Given the description of an element on the screen output the (x, y) to click on. 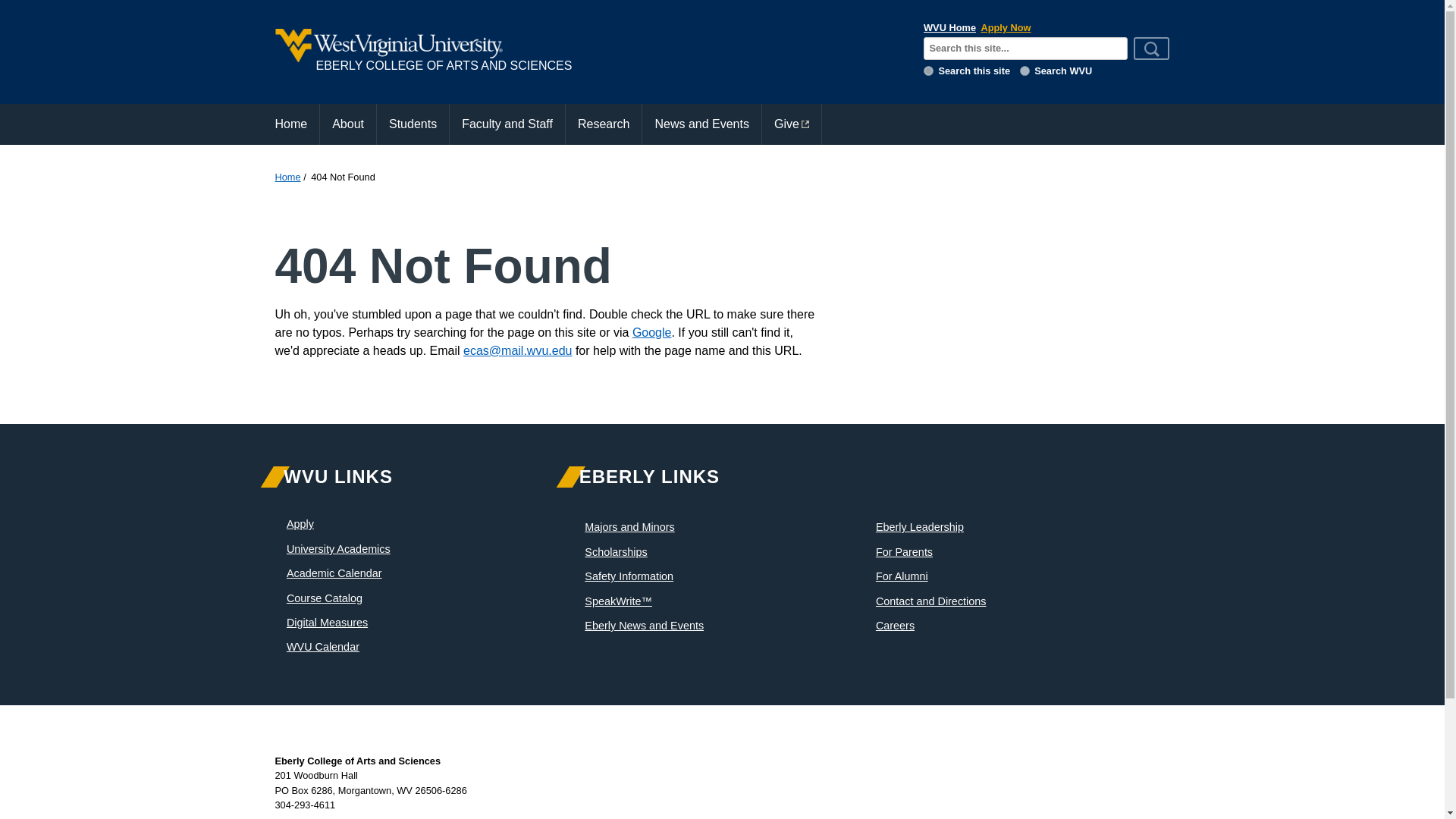
Google (651, 332)
EBERLY COLLEGE OF ARTS AND SCIENCES (588, 52)
WVU Calendar (322, 646)
Search (1152, 47)
Search (1152, 47)
Students (412, 124)
University Academics (338, 548)
Search (1152, 47)
Apply Now (1004, 27)
Give (791, 124)
WVU Home (949, 27)
wvu.edu (1024, 71)
Academic Calendar (333, 573)
Eberly Leadership (919, 526)
Careers (895, 625)
